Given the description of an element on the screen output the (x, y) to click on. 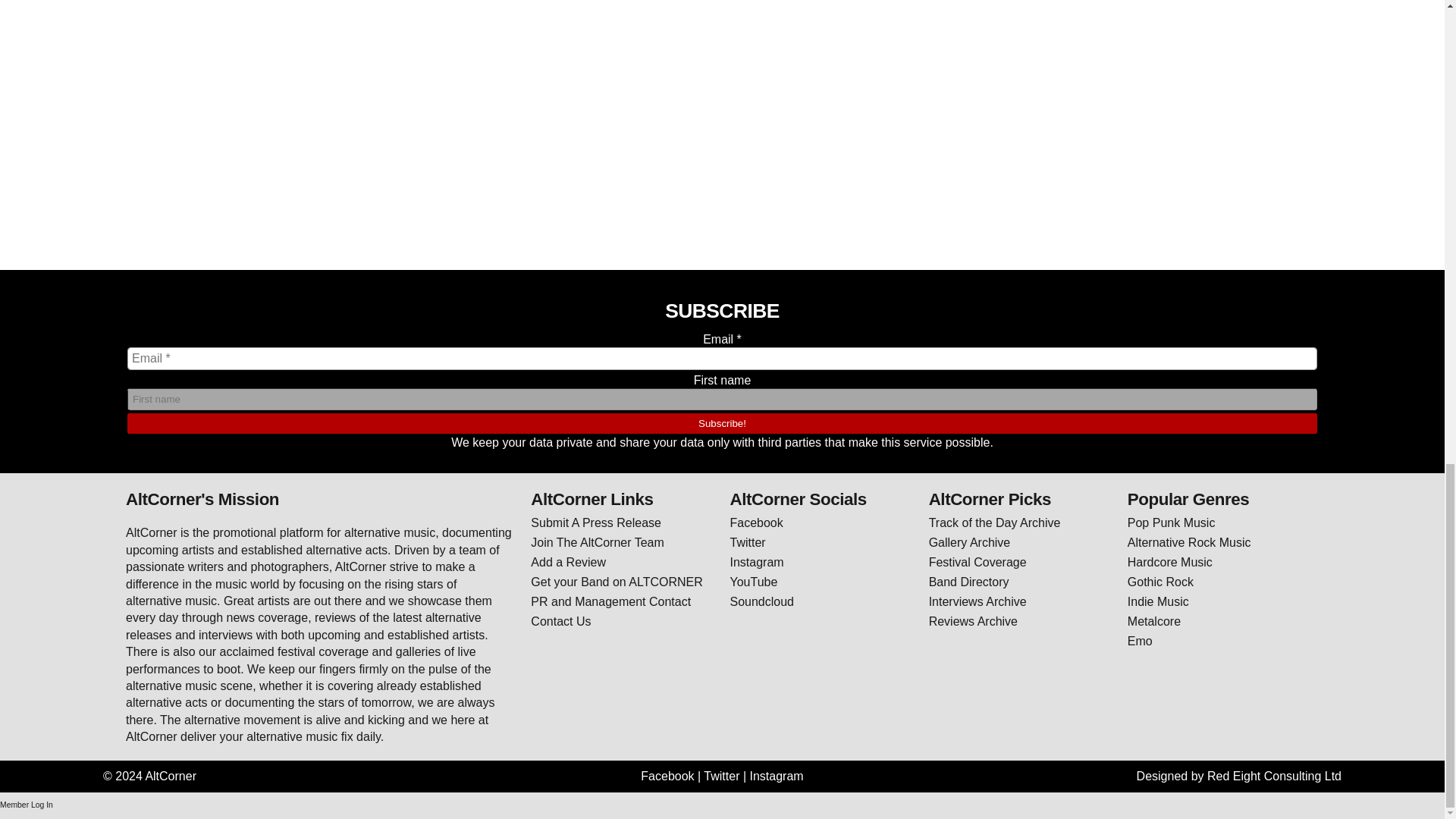
Email (722, 358)
First name (722, 399)
Subscribe! (722, 423)
